Given the description of an element on the screen output the (x, y) to click on. 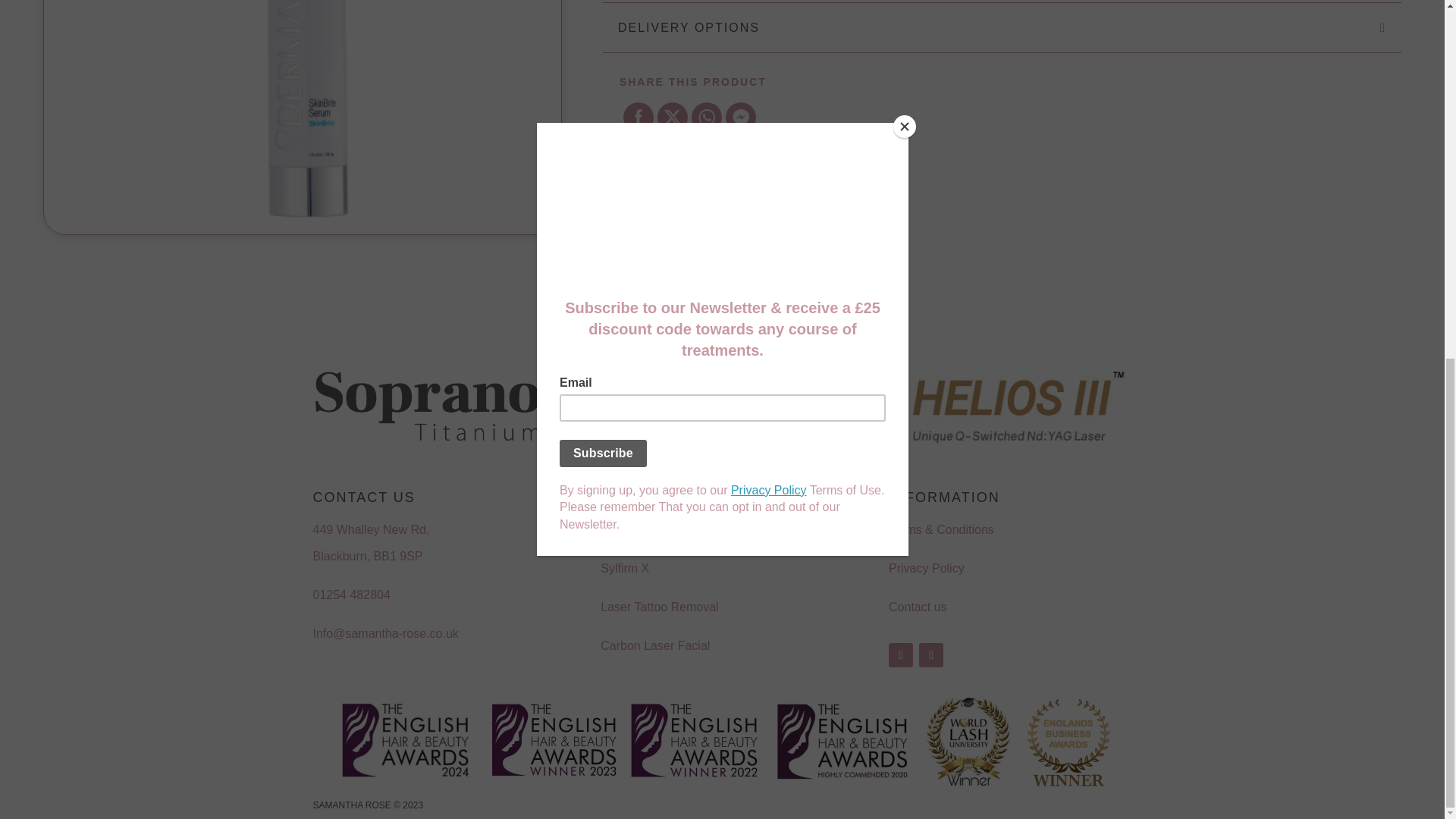
SylfirmX-logo (721, 399)
Follow on Facebook (900, 654)
FbMessenger (740, 117)
Twitter (672, 117)
WhatsApp (706, 117)
SkinBrite-Serum-1oz (301, 116)
Follow on Instagram (930, 654)
Logo (427, 405)
Facebook (638, 117)
